Given the description of an element on the screen output the (x, y) to click on. 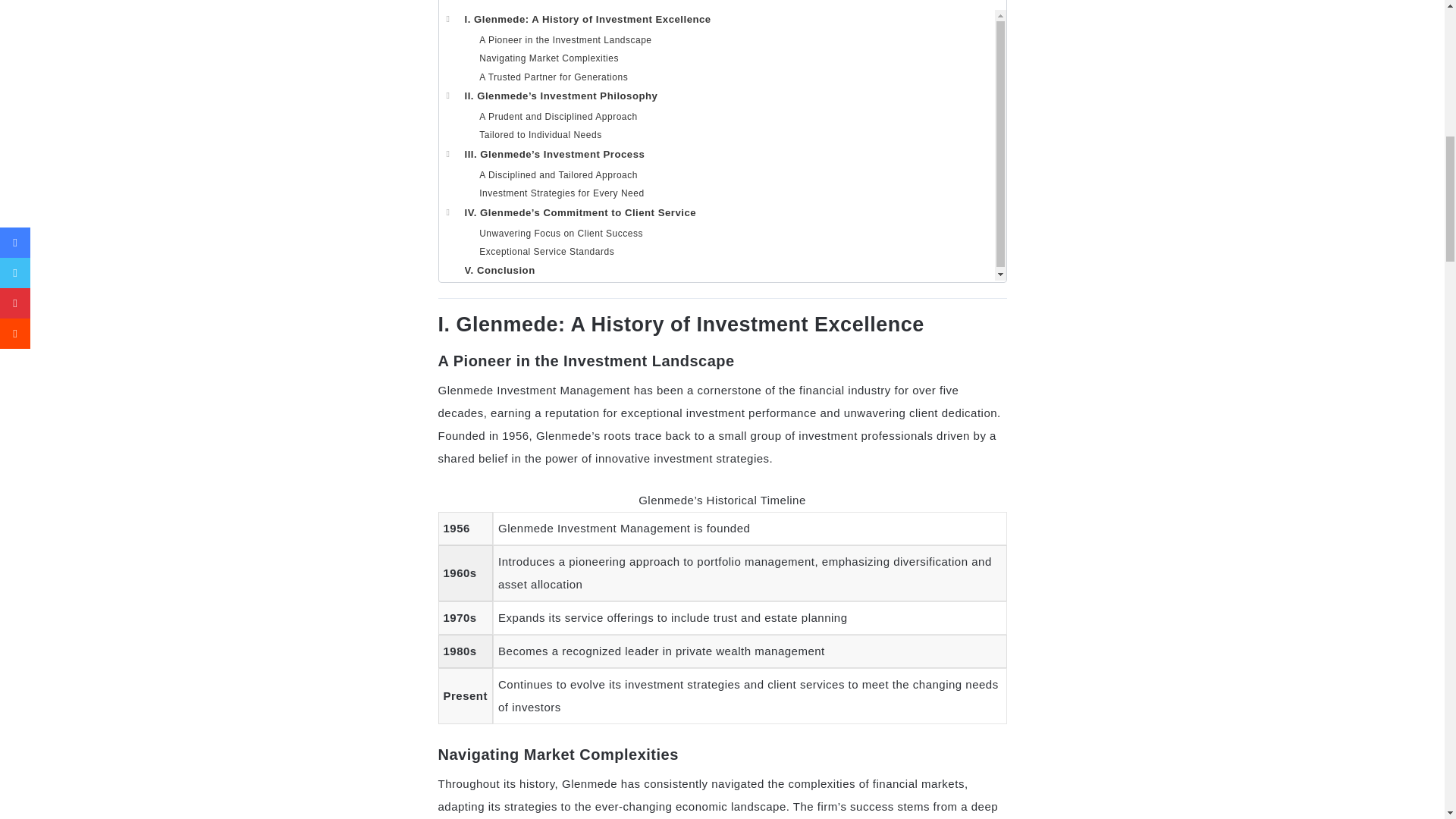
A Pioneer in the Investment Landscape (716, 40)
Navigating Market Complexities (716, 58)
I. Glenmede: A History of Investment Excellence (716, 20)
A Prudent and Disciplined Approach (716, 116)
A Trusted Partner for Generations (716, 76)
Tailored to Individual Needs (716, 135)
